Given the description of an element on the screen output the (x, y) to click on. 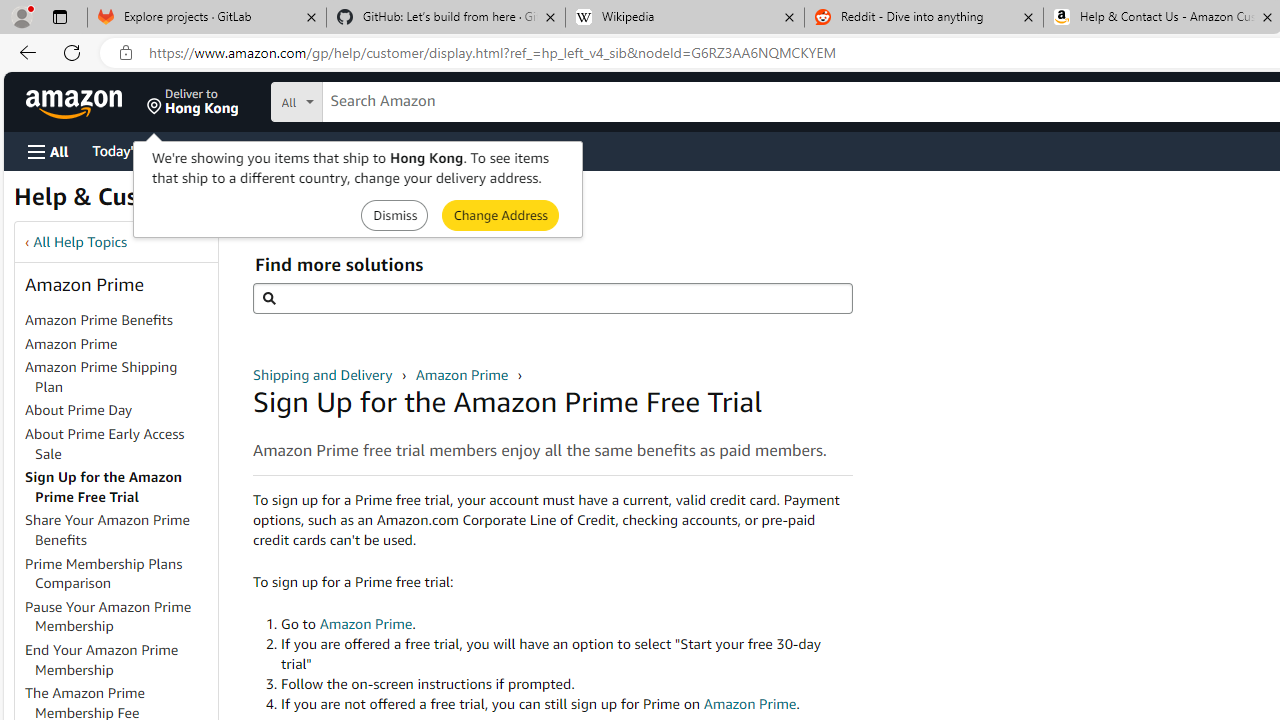
About Prime Early Access Sale (120, 444)
Pause Your Amazon Prime Membership (120, 616)
About Prime Early Access Sale (105, 443)
Help & Customer Service (154, 201)
Registry (360, 150)
Amazon Prime Shipping Plan (120, 377)
Pause Your Amazon Prime Membership (108, 615)
Submit (499, 214)
Amazon Prime (120, 344)
Customer Service (256, 150)
Amazon Prime  (463, 374)
